Given the description of an element on the screen output the (x, y) to click on. 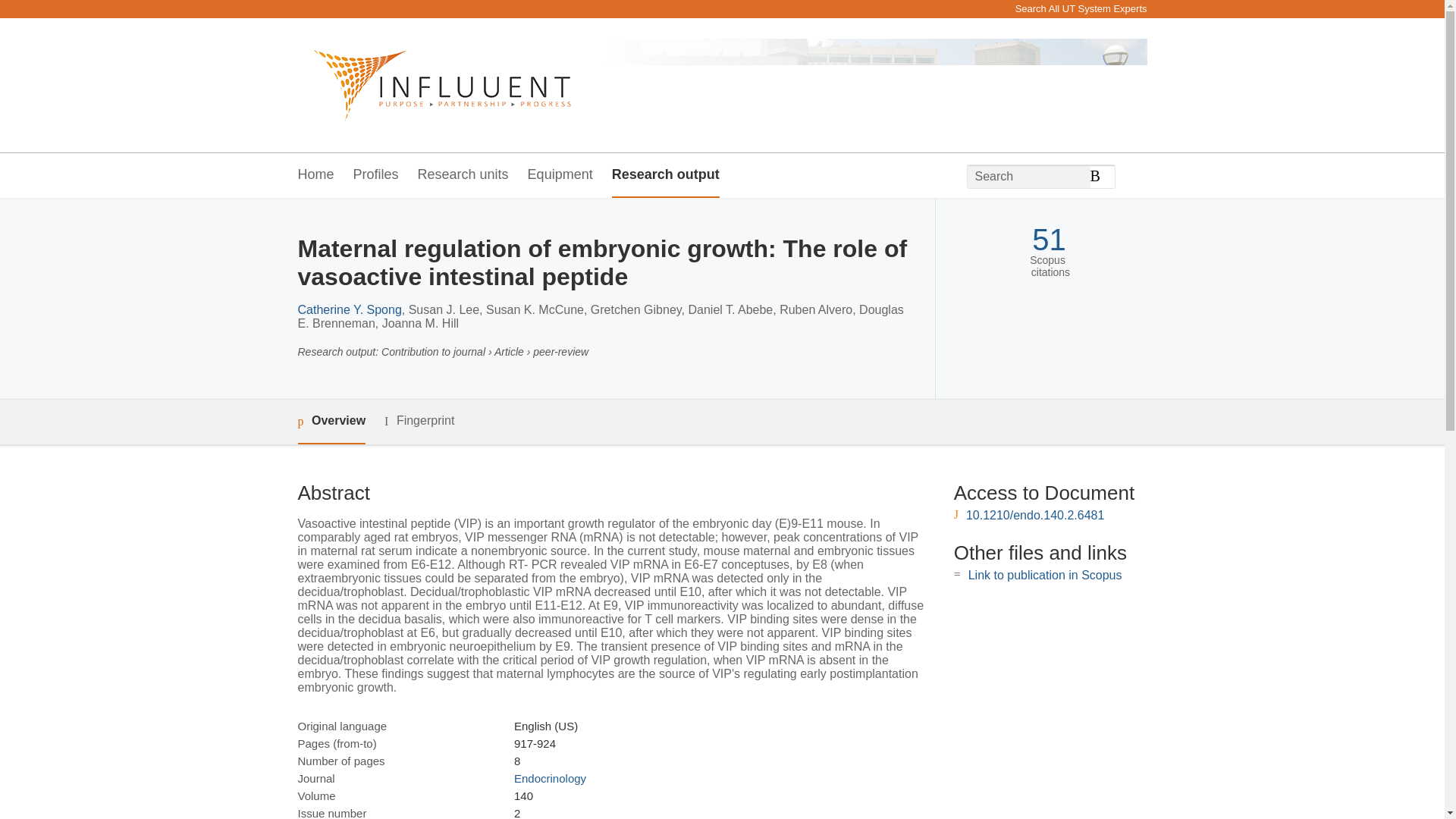
Catherine Y. Spong (349, 309)
Endocrinology (549, 778)
Profiles (375, 175)
University of Texas Southwestern Medical Center Home (434, 85)
Home (315, 175)
Fingerprint (419, 421)
Overview (331, 421)
Equipment (559, 175)
Research units (462, 175)
Research output (665, 175)
51 (1048, 239)
Link to publication in Scopus (1045, 574)
